Given the description of an element on the screen output the (x, y) to click on. 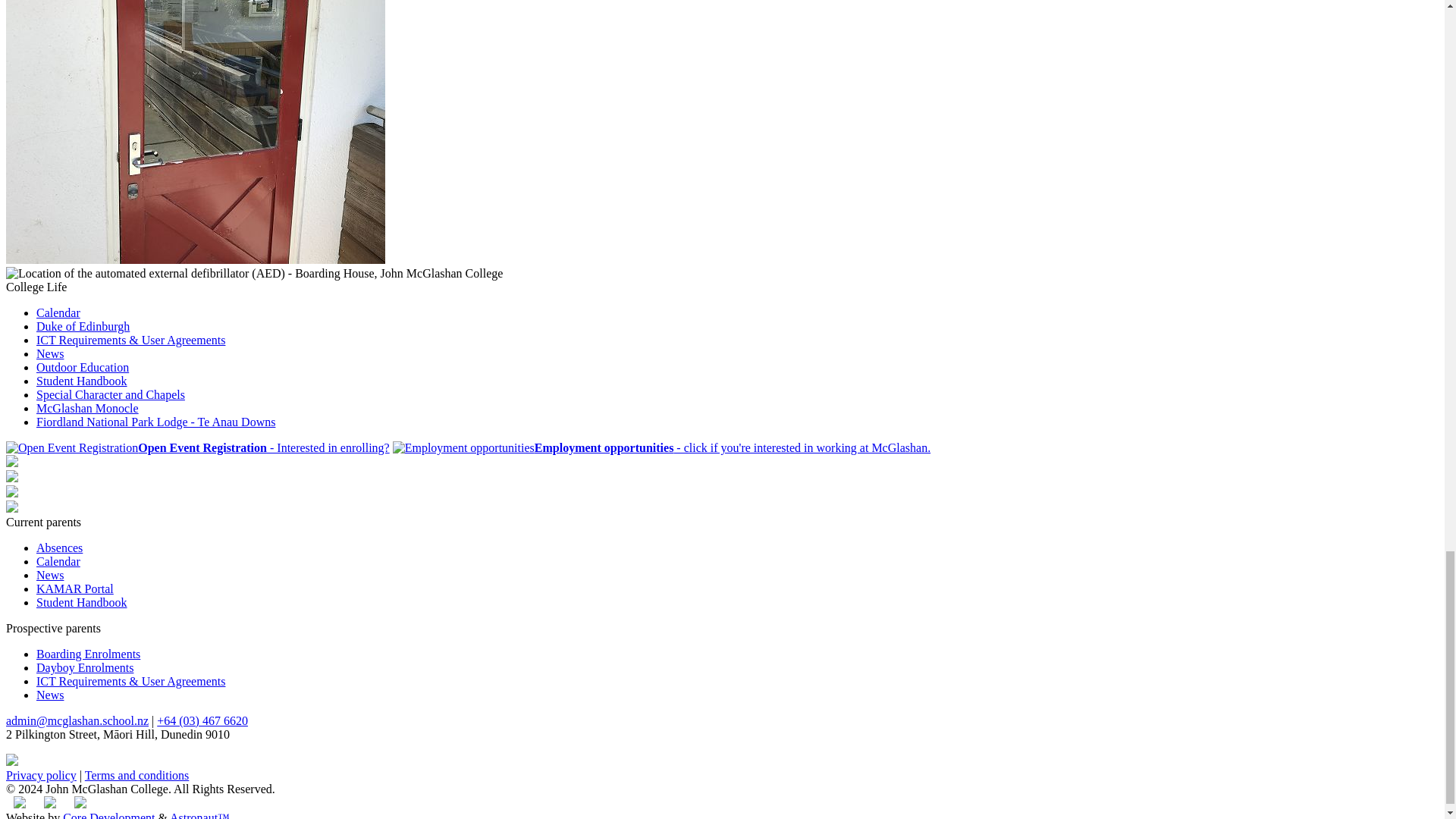
Student Handbook (82, 380)
Terms and conditions (136, 775)
Duke of Edinburgh (82, 326)
News (50, 694)
Absences (59, 547)
Special Character and Chapels (110, 394)
Open Event Registration - Interested in enrolling? (197, 447)
News (50, 574)
News (50, 353)
Calendar (58, 561)
